Given the description of an element on the screen output the (x, y) to click on. 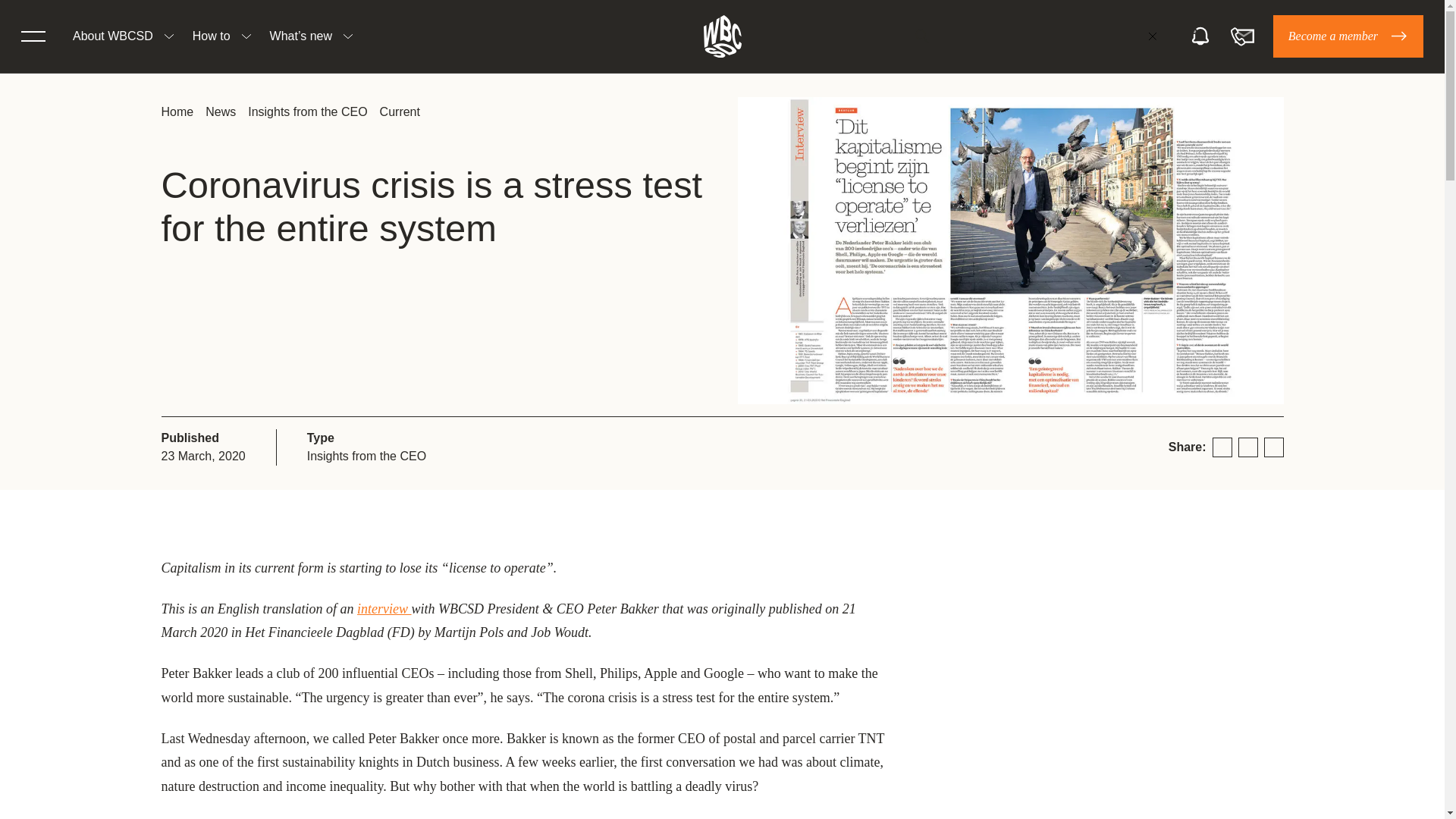
About WBCSD (112, 36)
How to (210, 36)
Become a member (1347, 36)
